Given the description of an element on the screen output the (x, y) to click on. 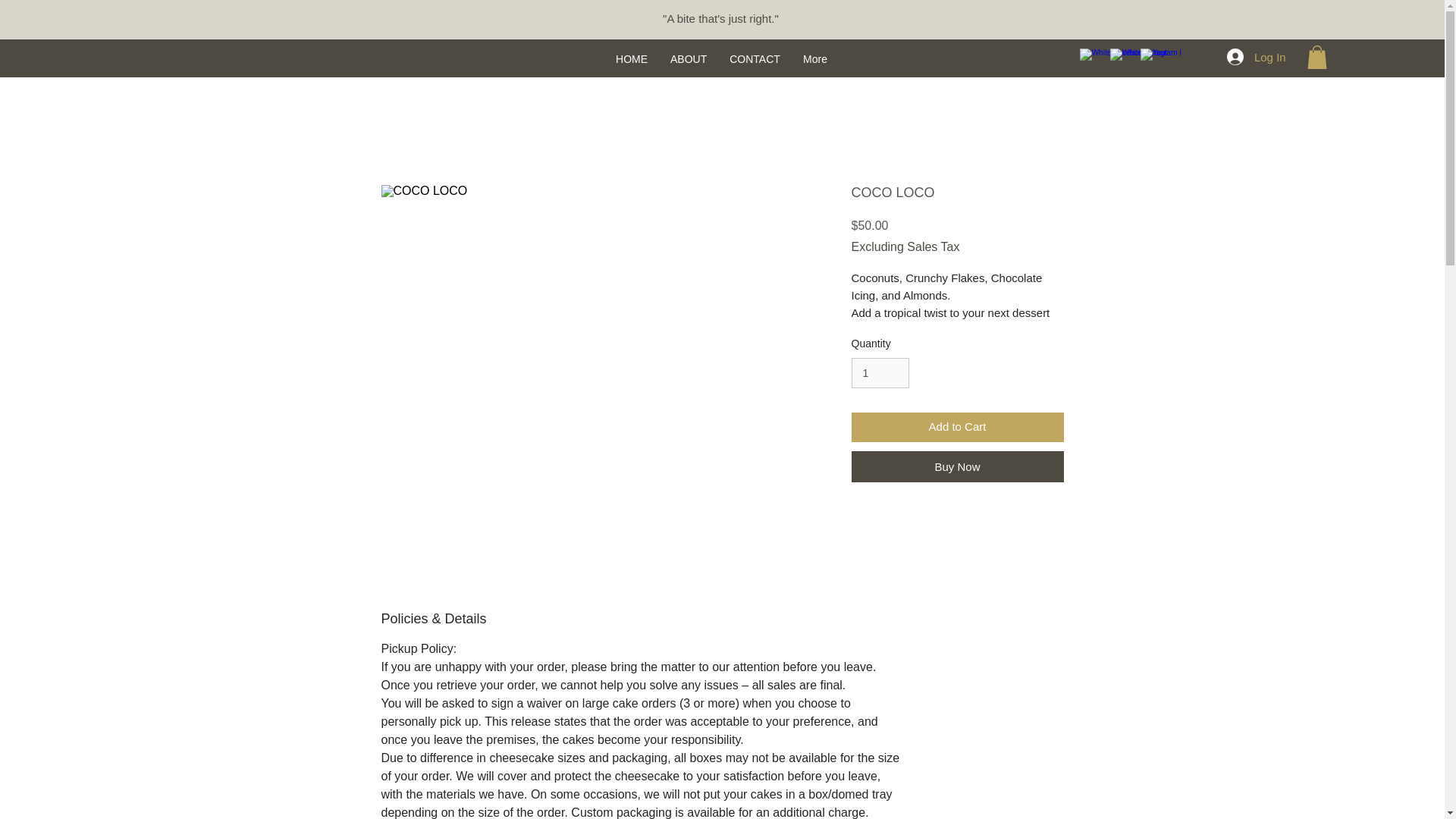
CONTACT (754, 59)
ABOUT (688, 59)
1 (879, 373)
HOME (631, 59)
Buy Now (956, 466)
"A bite that's just right." (720, 18)
Log In (1256, 56)
Add to Cart (956, 427)
